Given the description of an element on the screen output the (x, y) to click on. 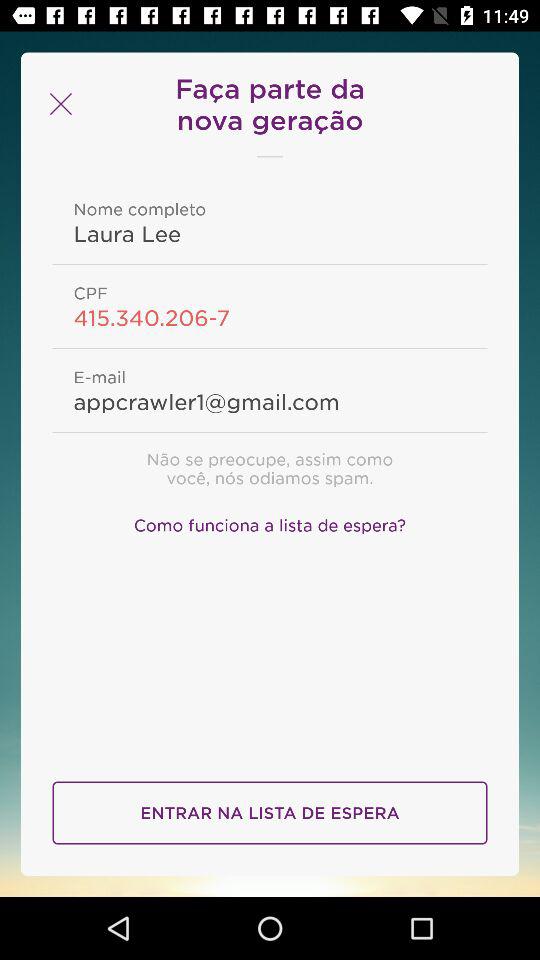
scroll to the appcrawler1@gmail.com (269, 401)
